Given the description of an element on the screen output the (x, y) to click on. 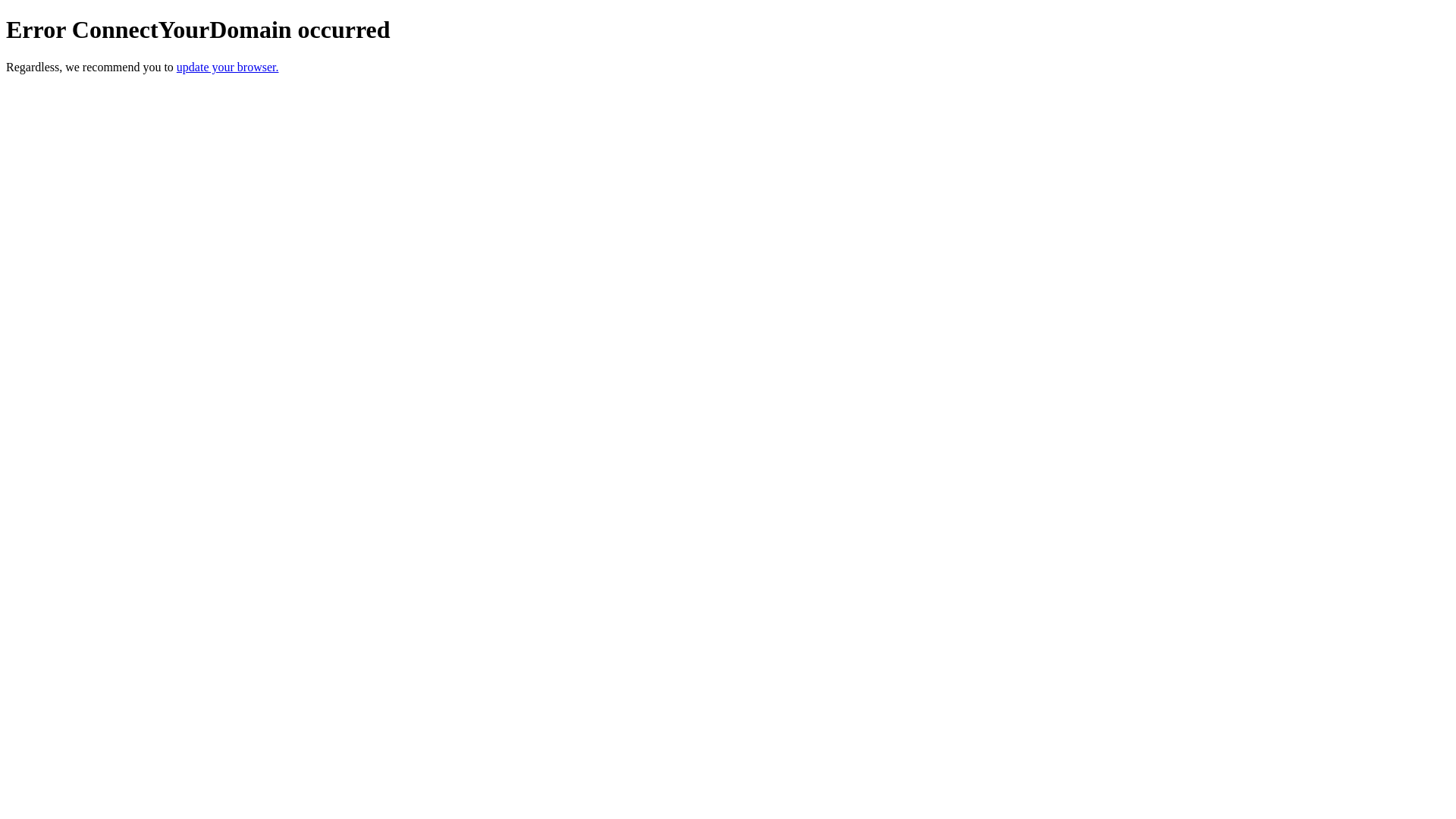
update your browser. Element type: text (227, 66)
